Given the description of an element on the screen output the (x, y) to click on. 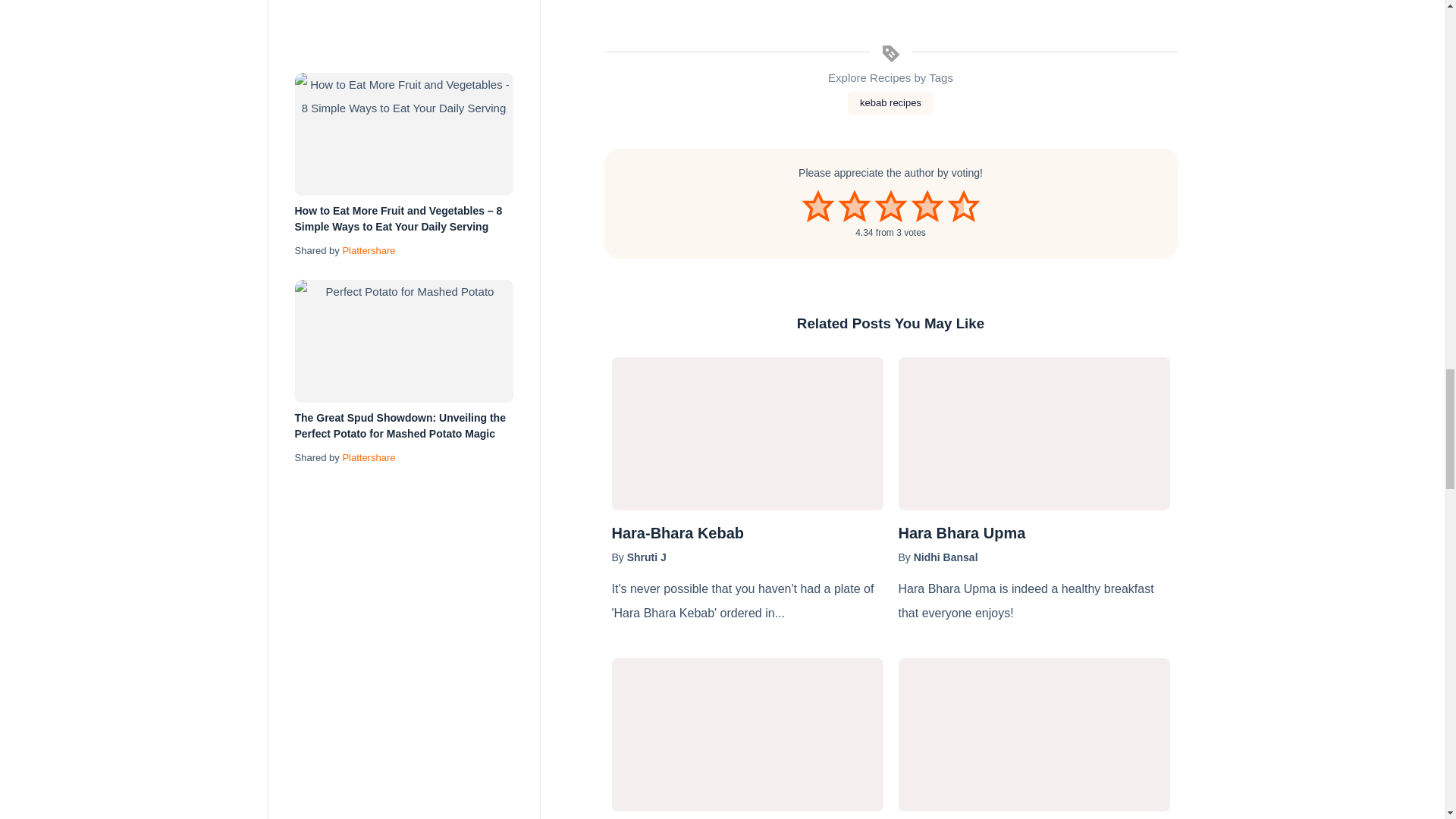
Hara Bhara Upma (1033, 532)
Hara Bhara Upma (1033, 433)
Hara Bhara Sabudana Vada (746, 734)
Hara-Bhara Kebab (746, 532)
Hara-Bhara Kebab (746, 433)
